Given the description of an element on the screen output the (x, y) to click on. 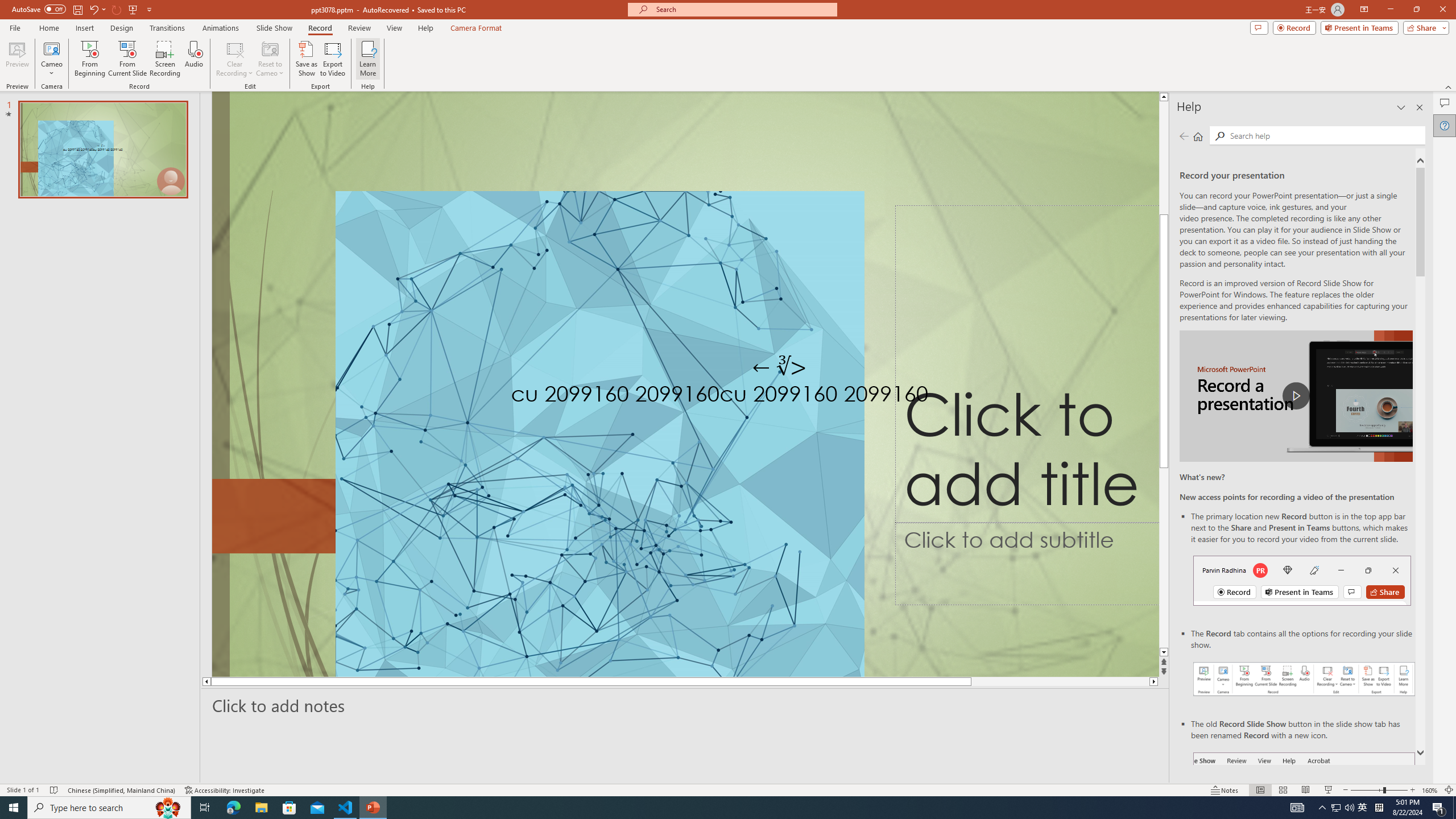
Learn More (368, 58)
Record your presentations screenshot one (1304, 678)
From Current Slide... (127, 58)
From Beginning... (89, 58)
